Given the description of an element on the screen output the (x, y) to click on. 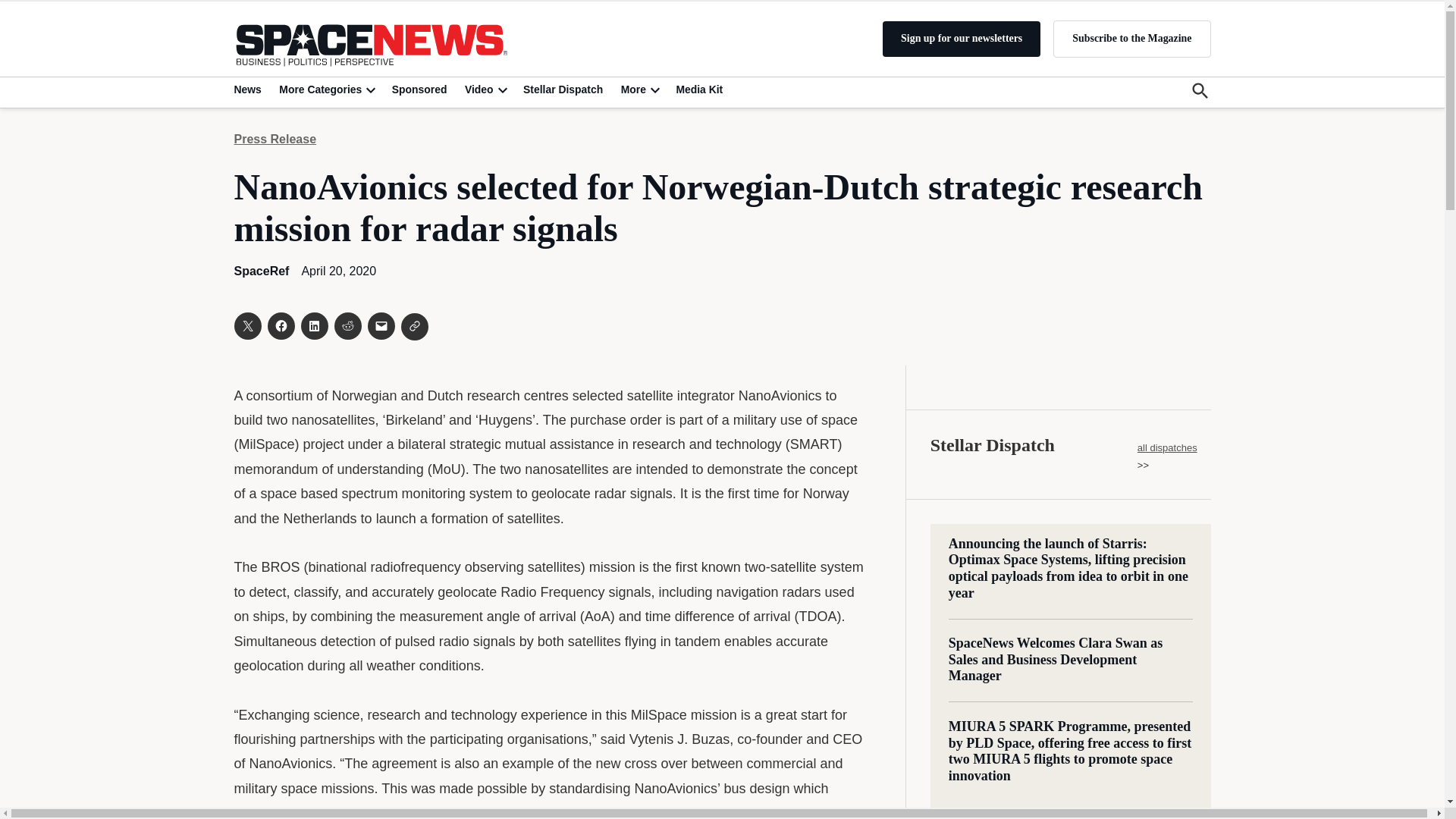
Click to email a link to a friend (380, 325)
Click to share on LinkedIn (313, 325)
Click to share on Facebook (280, 325)
Subscribe to the Magazine (1130, 38)
Click to share on Clipboard (414, 326)
Click to share on Reddit (347, 325)
Click to share on X (246, 325)
Sign up for our newsletters (961, 38)
